Given the description of an element on the screen output the (x, y) to click on. 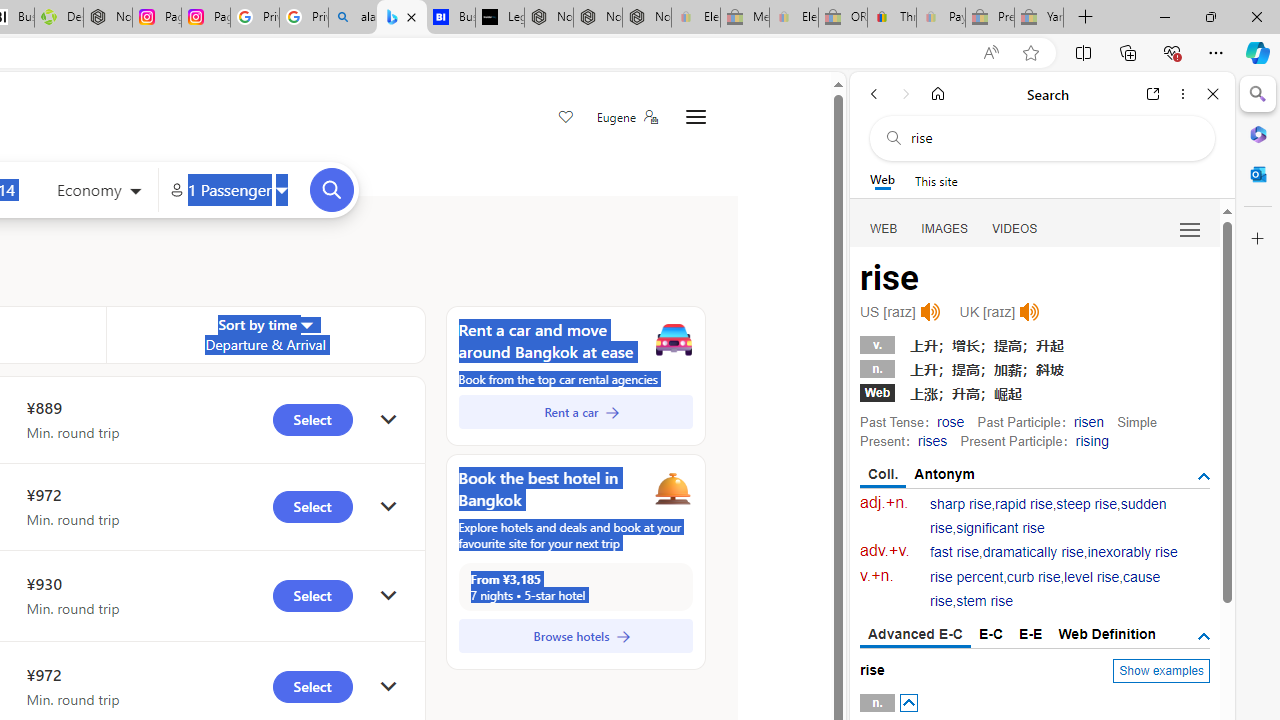
AutomationID: posbtn_0 (908, 703)
risen (1088, 421)
Coll. (883, 475)
Press Room - eBay Inc. - Sleeping (989, 17)
rises (932, 440)
AutomationID: tgsb (1203, 476)
dramatically rise (1032, 552)
fast rise (955, 552)
cause rise (1045, 589)
